Given the description of an element on the screen output the (x, y) to click on. 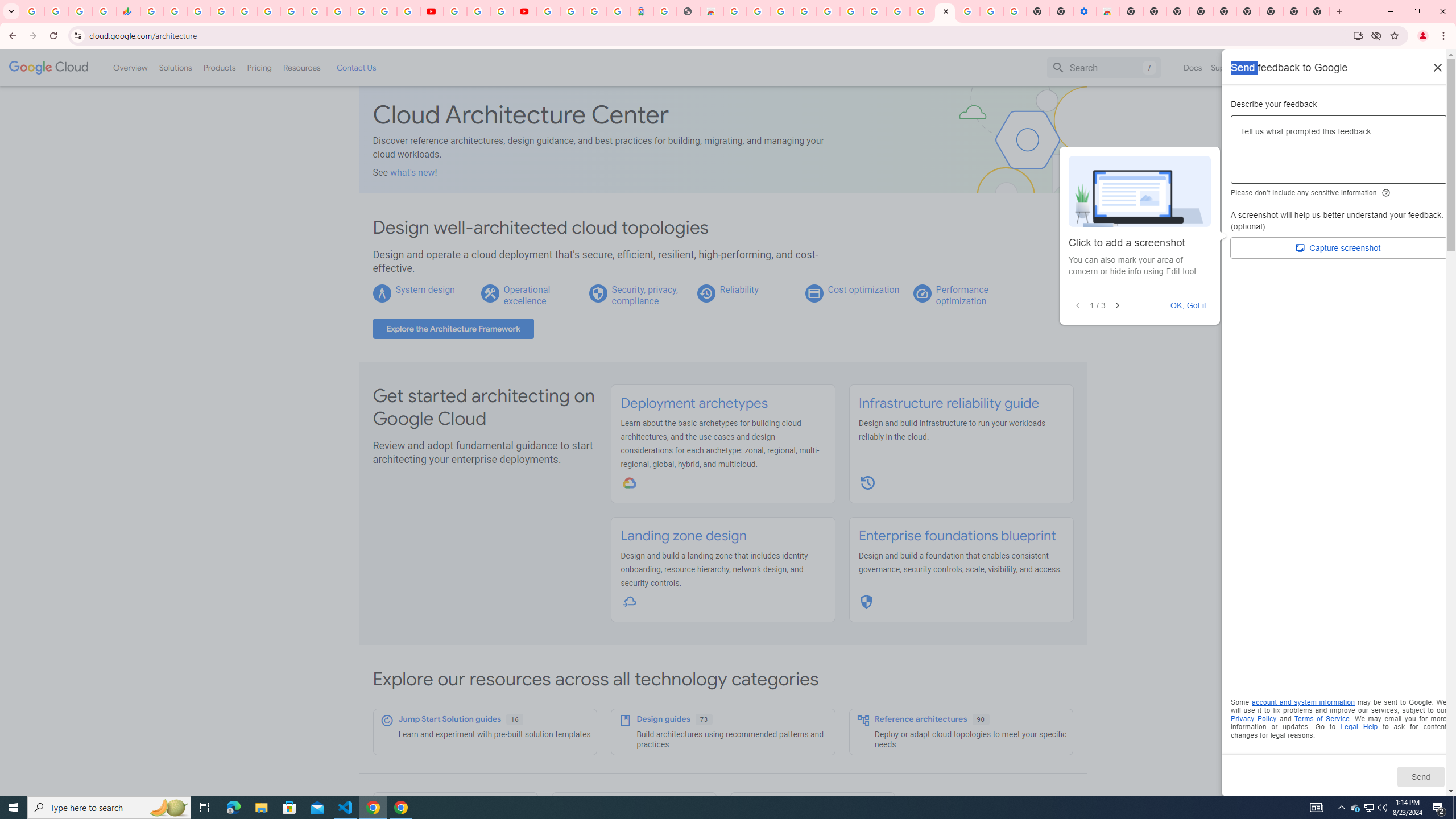
Landing zone design (683, 535)
Opens in a new tab. Privacy Policy (1253, 718)
YouTube (431, 11)
Products (218, 67)
Sign in - Google Accounts (827, 11)
